Given the description of an element on the screen output the (x, y) to click on. 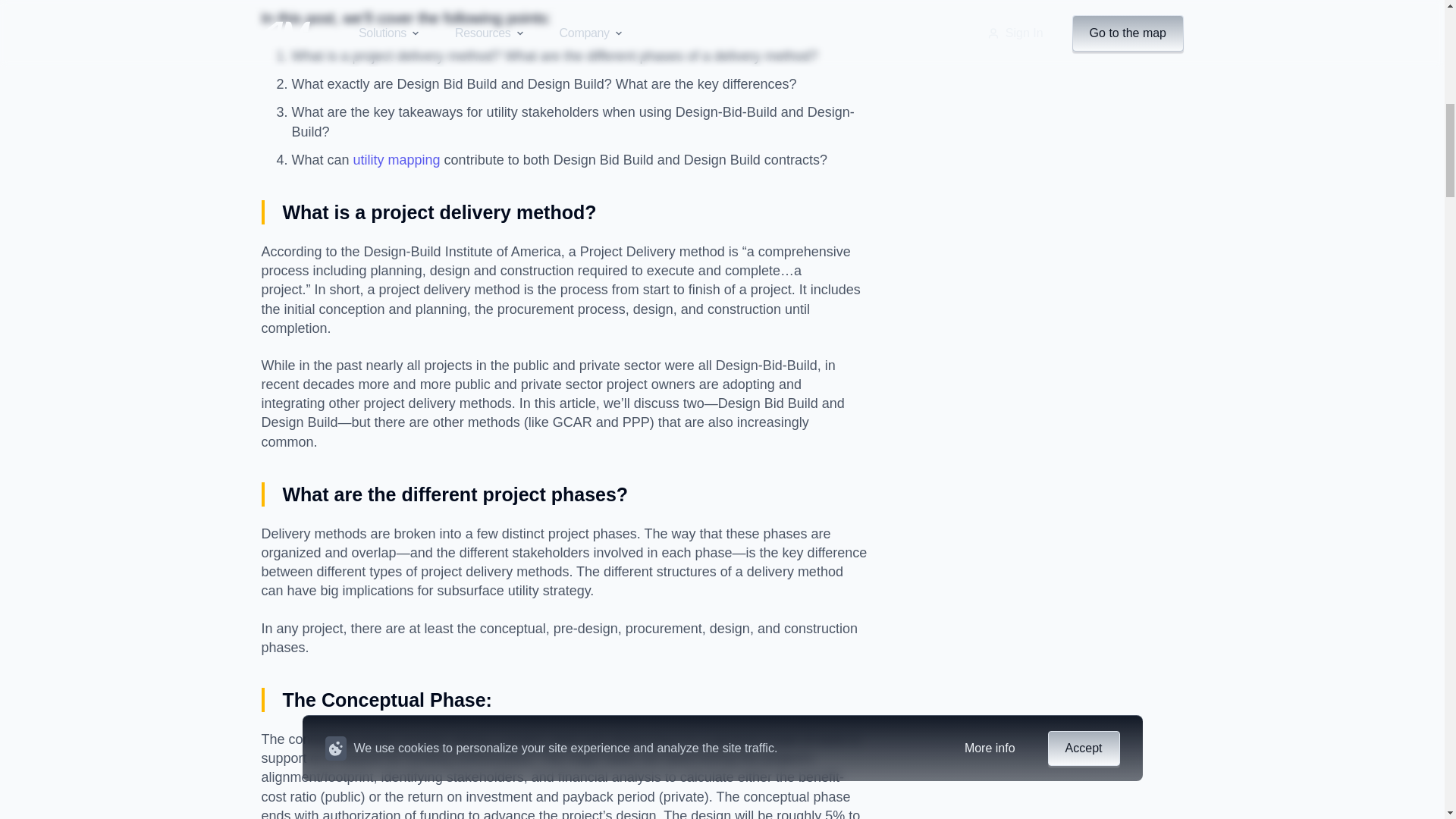
utility mapping (397, 159)
